Given the description of an element on the screen output the (x, y) to click on. 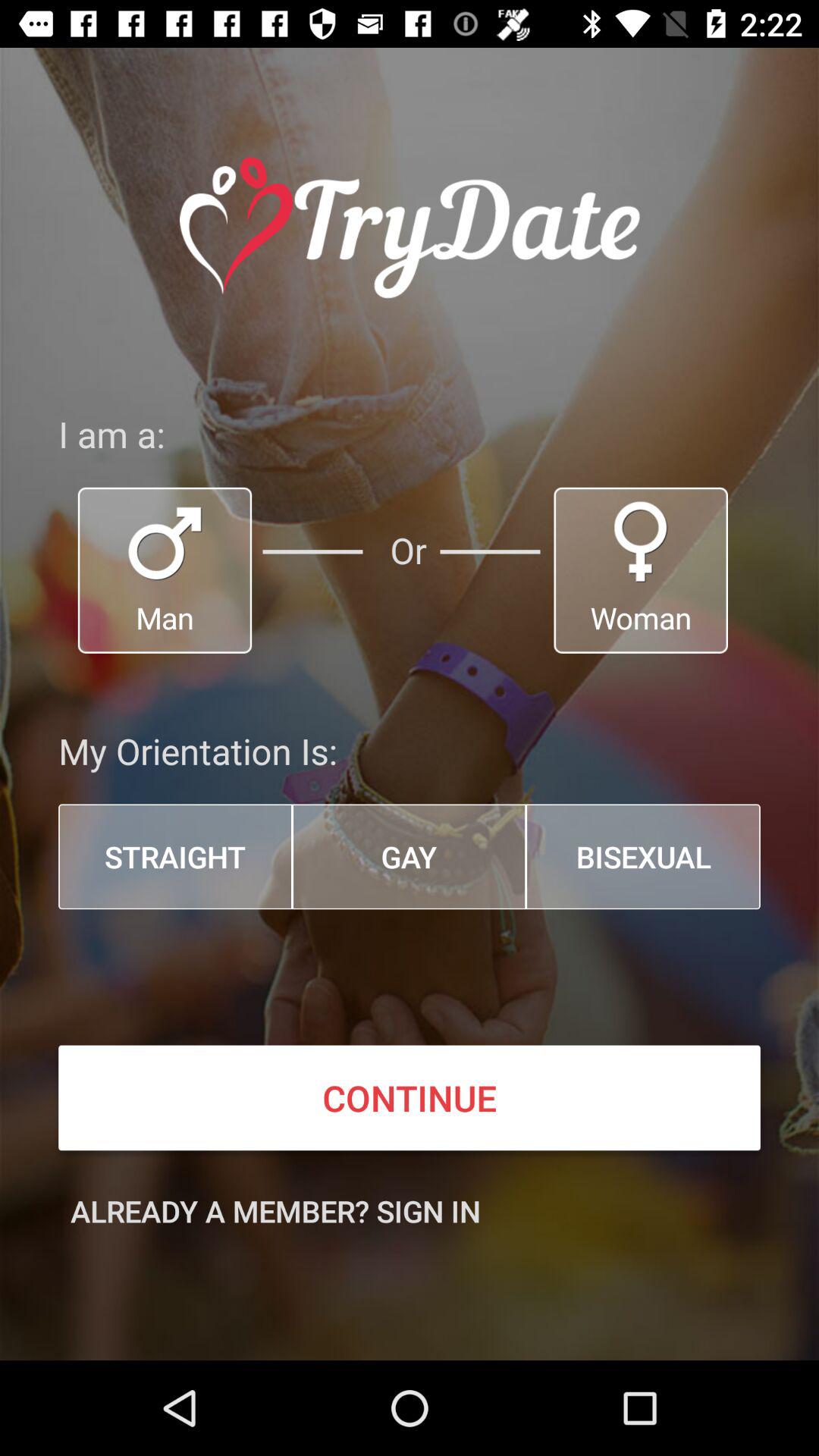
select gender (164, 570)
